Given the description of an element on the screen output the (x, y) to click on. 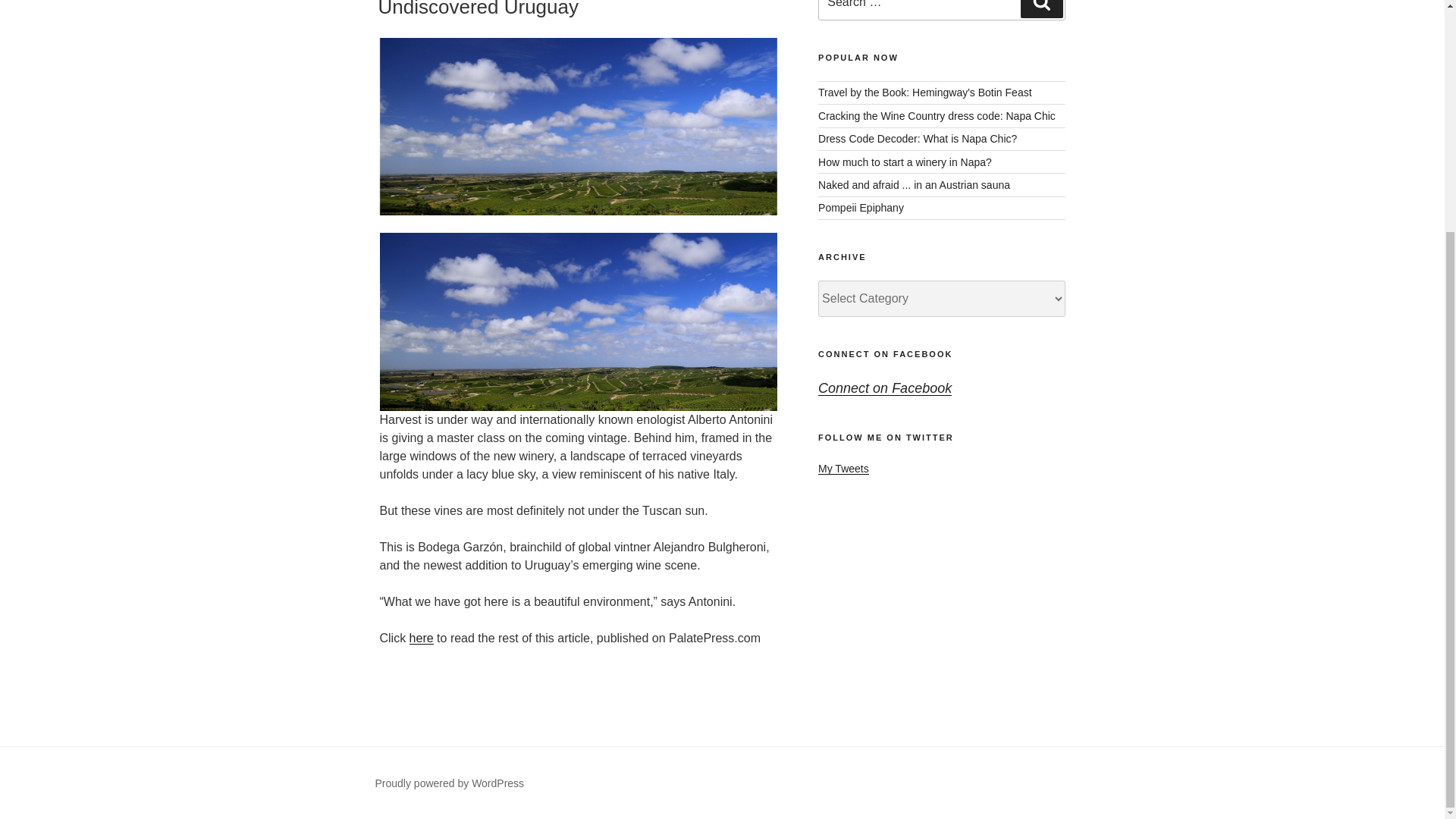
Dress Code Decoder: What is Napa Chic? (917, 138)
CONNECT ON FACEBOOK (885, 353)
How much to start a winery in Napa? (904, 162)
Undiscovered Uruguay (477, 9)
Naked and afraid ... in an Austrian sauna (914, 184)
Travel by the Book: Hemingway's Botin Feast (925, 92)
Proudly powered by WordPress (449, 783)
Search (1041, 9)
My Tweets (843, 468)
Connect on Facebook (885, 387)
